Given the description of an element on the screen output the (x, y) to click on. 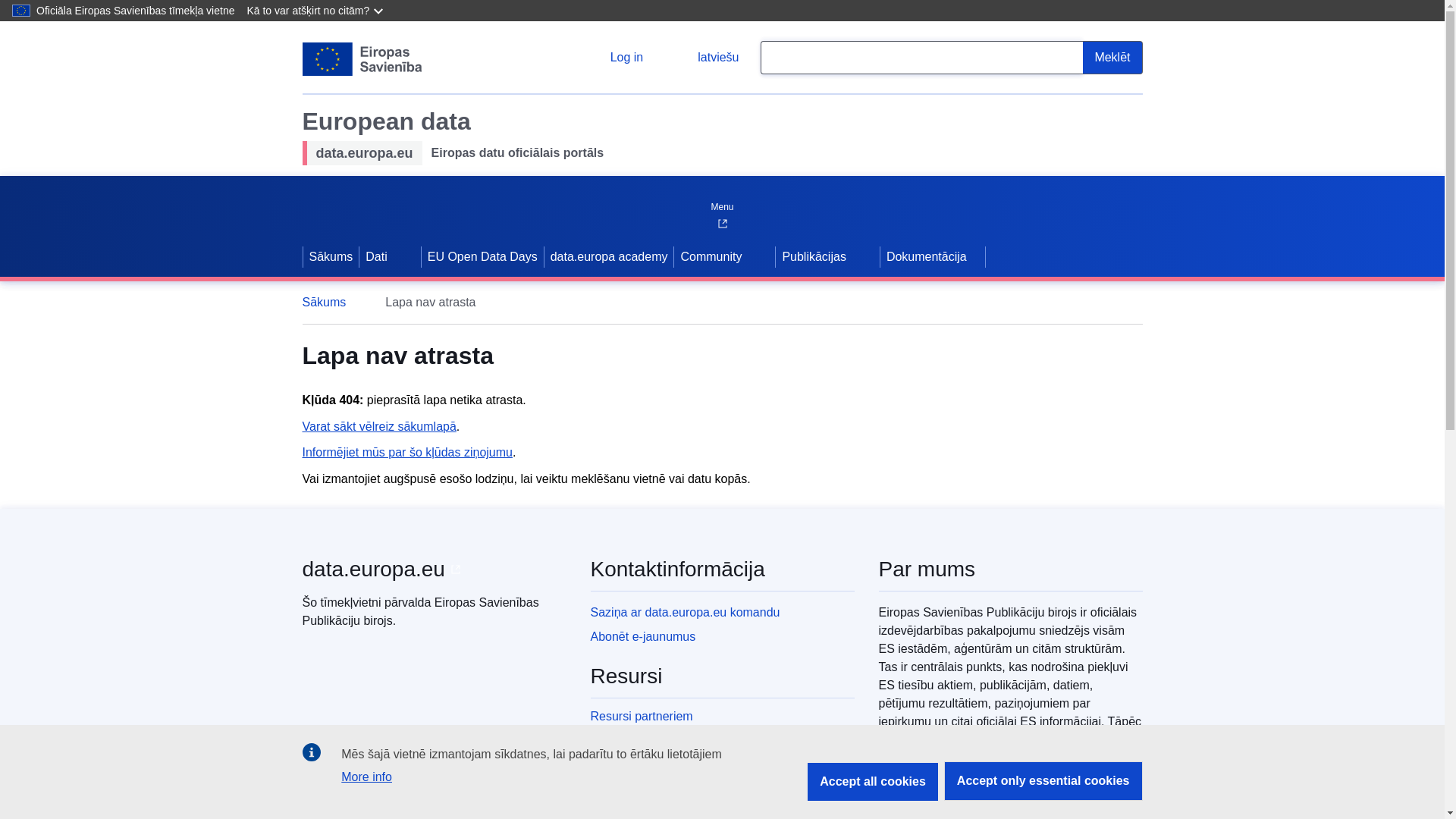
European Union (361, 59)
data.europa academy (609, 256)
EU Open Data Days (482, 256)
Menu (721, 203)
Community (709, 256)
Log in (614, 57)
